Given the description of an element on the screen output the (x, y) to click on. 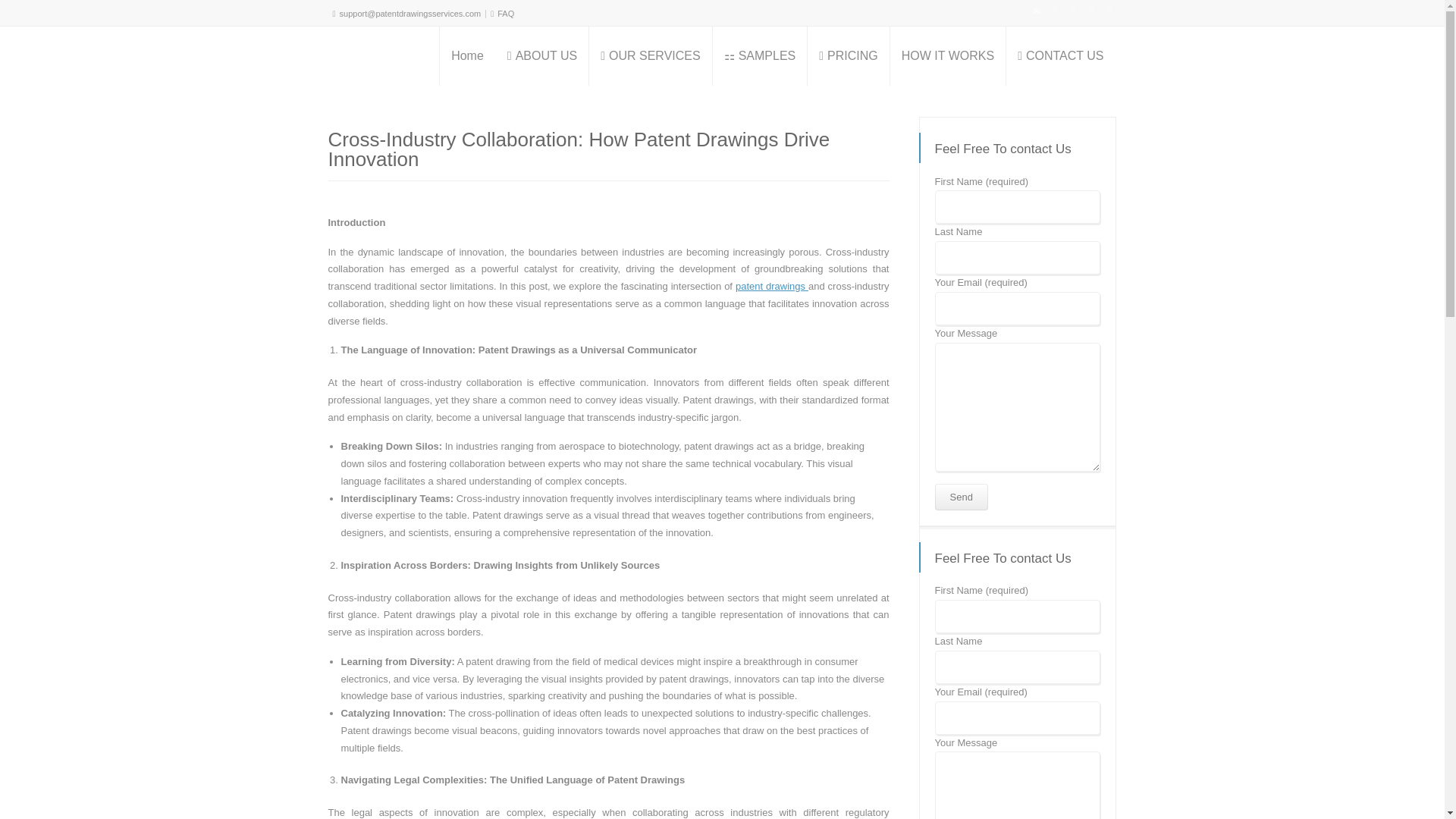
FAQ (505, 13)
Send (960, 497)
Send (960, 497)
SAMPLES (760, 55)
patent drawings (771, 285)
Home (467, 55)
HOW IT WORKS (947, 55)
OUR SERVICES (650, 55)
Twitter (1053, 11)
CONTACT US (1060, 55)
